Given the description of an element on the screen output the (x, y) to click on. 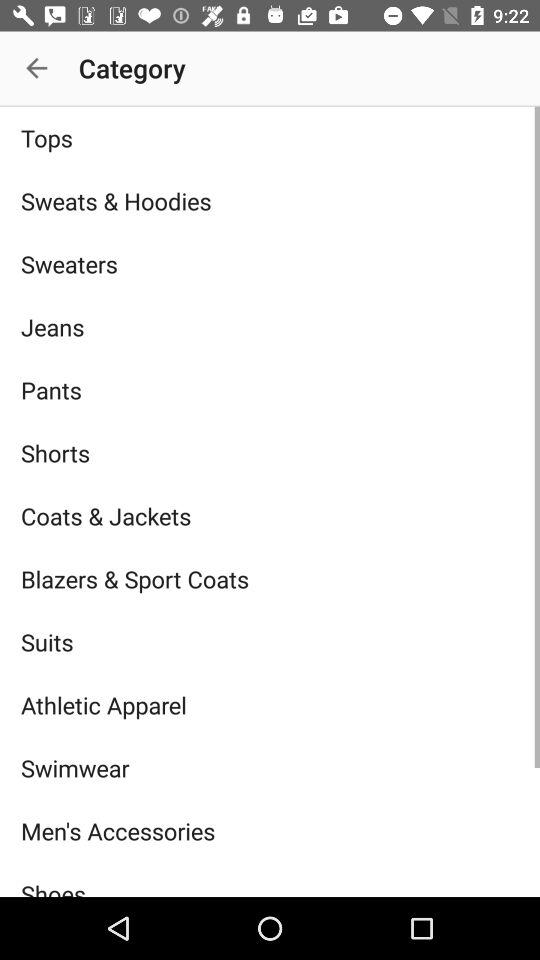
select blazers & sport coats icon (270, 578)
